Given the description of an element on the screen output the (x, y) to click on. 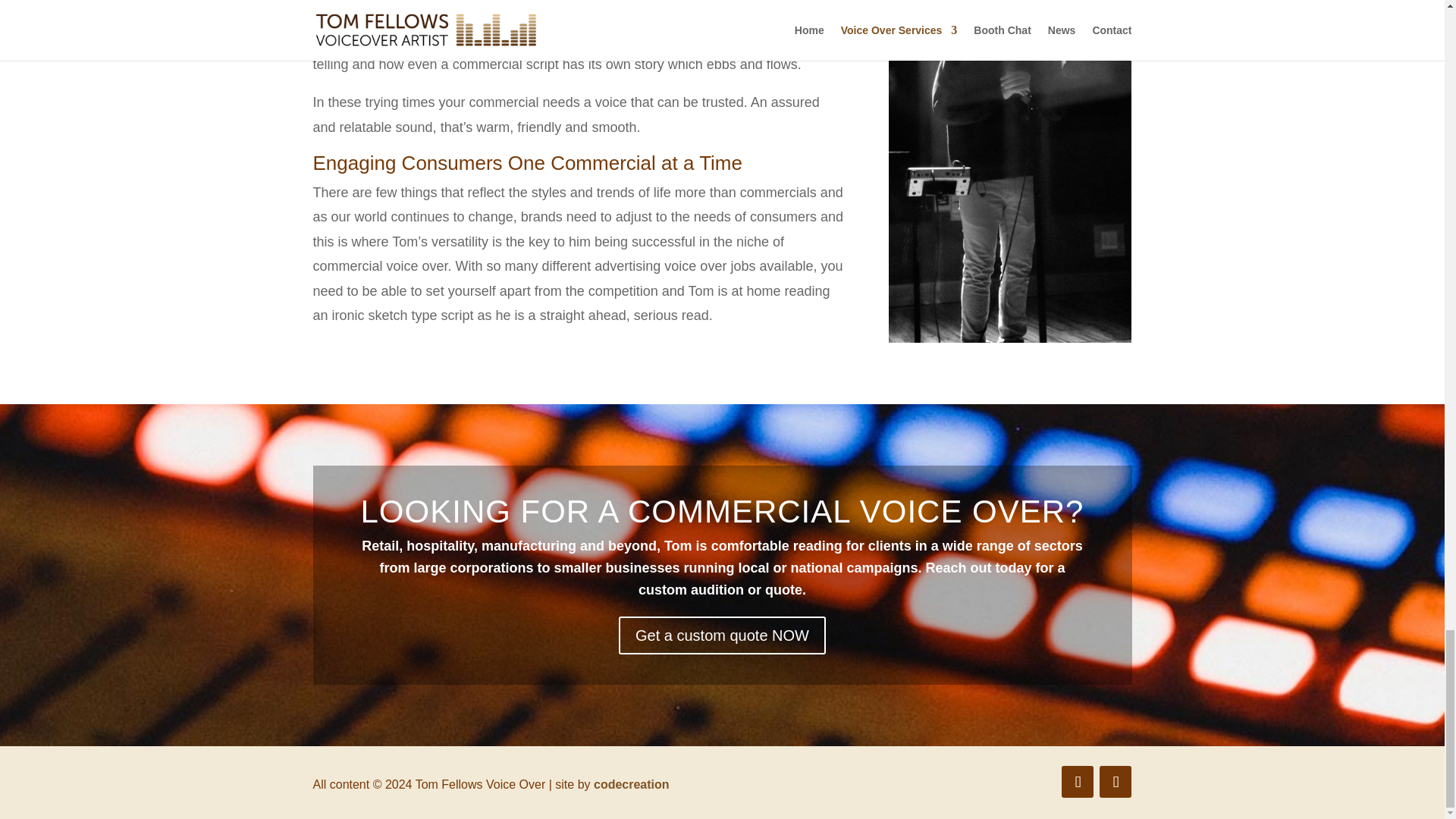
Get a custom quote NOW (721, 635)
Follow on Facebook (1077, 781)
Follow on X (1115, 781)
codecreation (631, 784)
